Given the description of an element on the screen output the (x, y) to click on. 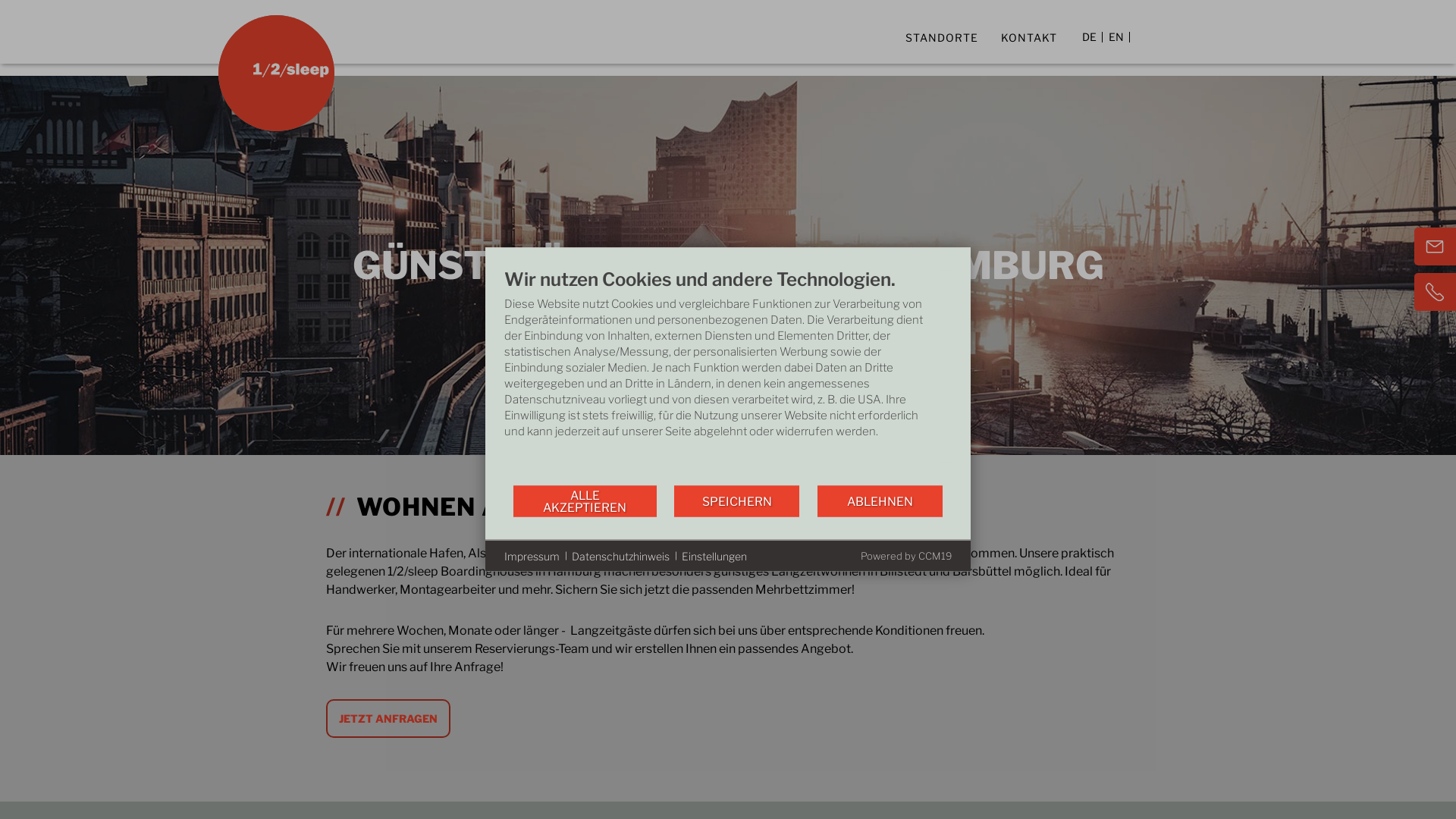
Impressum Element type: text (531, 555)
SPEICHERN Element type: text (736, 500)
Einstellungen Element type: text (713, 555)
EN Element type: text (1115, 46)
Powered by CCM19 Element type: text (905, 555)
KONTAKT Element type: text (1029, 37)
ABLEHNEN Element type: text (879, 500)
STANDORTE Element type: text (941, 37)
DE Element type: text (1089, 46)
JETZT ANFRAGEN Element type: text (388, 718)
Datenschutzhinweis Element type: text (620, 555)
ALLE AKZEPTIEREN Element type: text (584, 500)
